Given the description of an element on the screen output the (x, y) to click on. 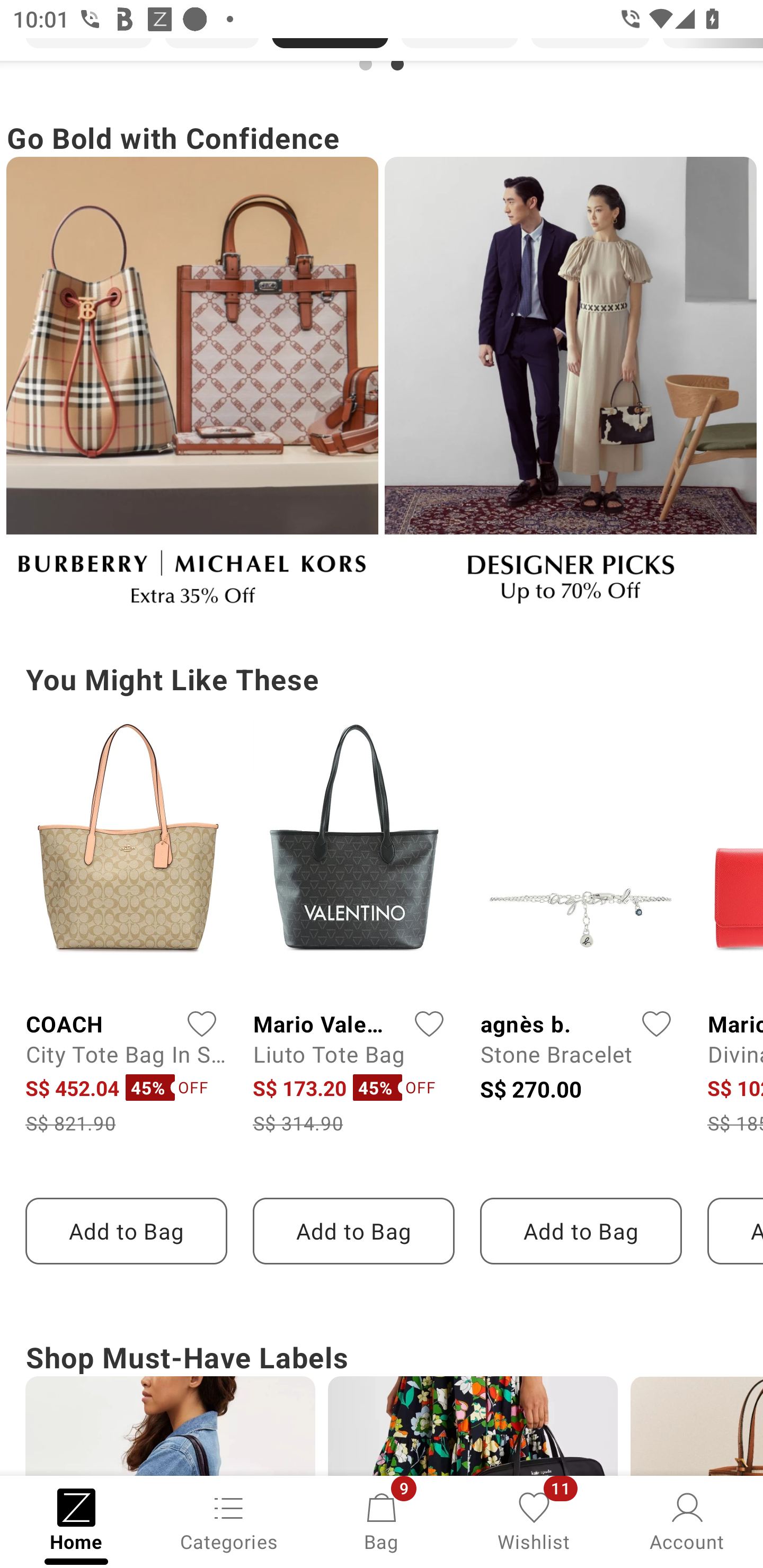
Campaign banner (192, 388)
Campaign banner (570, 388)
Add to Bag (126, 1230)
Add to Bag (353, 1230)
Add to Bag (580, 1230)
Categories (228, 1519)
Bag, 9 new notifications Bag (381, 1519)
Wishlist, 11 new notifications Wishlist (533, 1519)
Account (686, 1519)
